Given the description of an element on the screen output the (x, y) to click on. 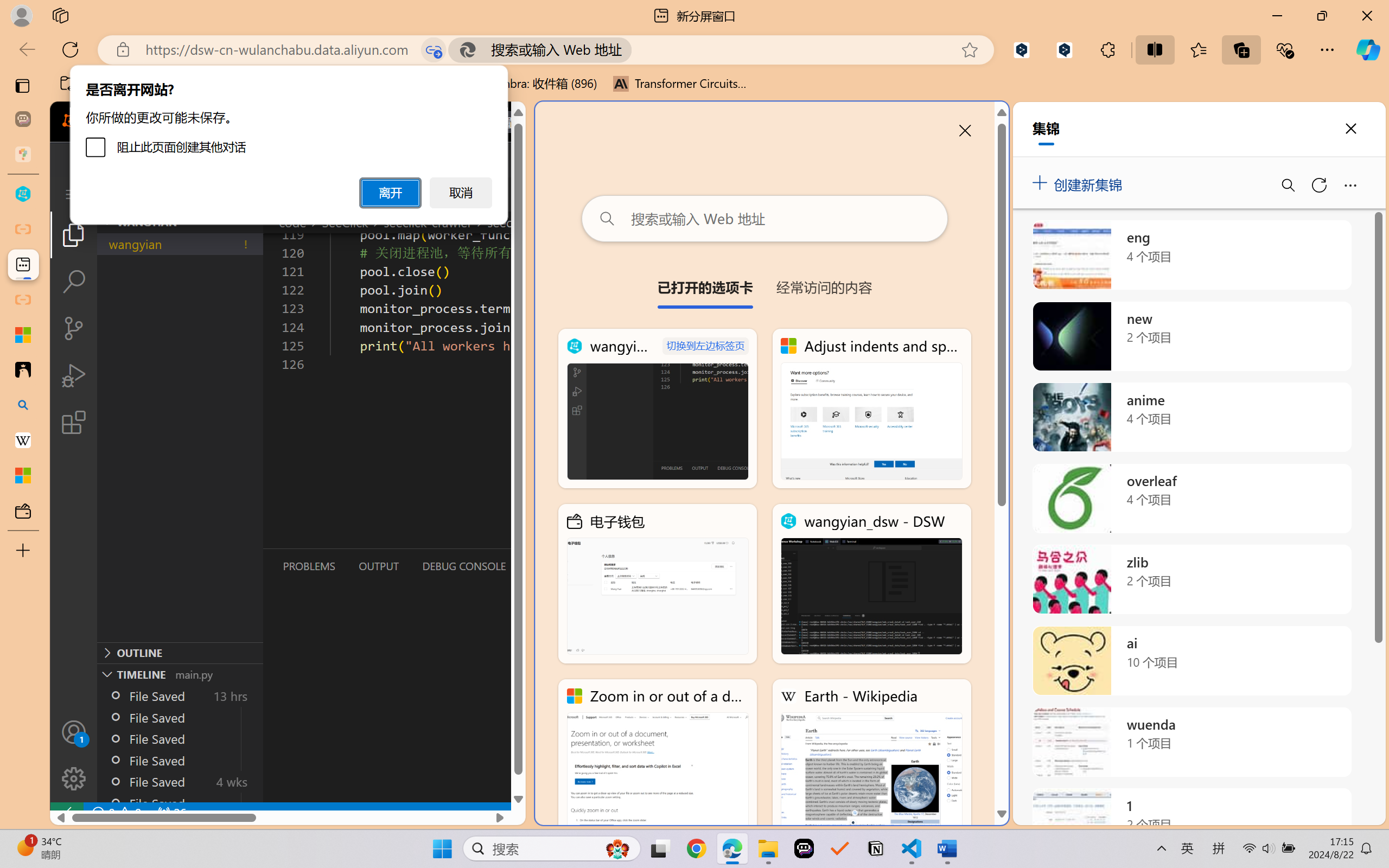
Terminal (Ctrl+`) (553, 565)
wangyian_webcrawler - DSW (657, 408)
Extensions (Ctrl+Shift+X) (73, 422)
remote (66, 812)
Copilot (Ctrl+Shift+.) (1368, 49)
Adjust indents and spacing - Microsoft Support (22, 334)
